Given the description of an element on the screen output the (x, y) to click on. 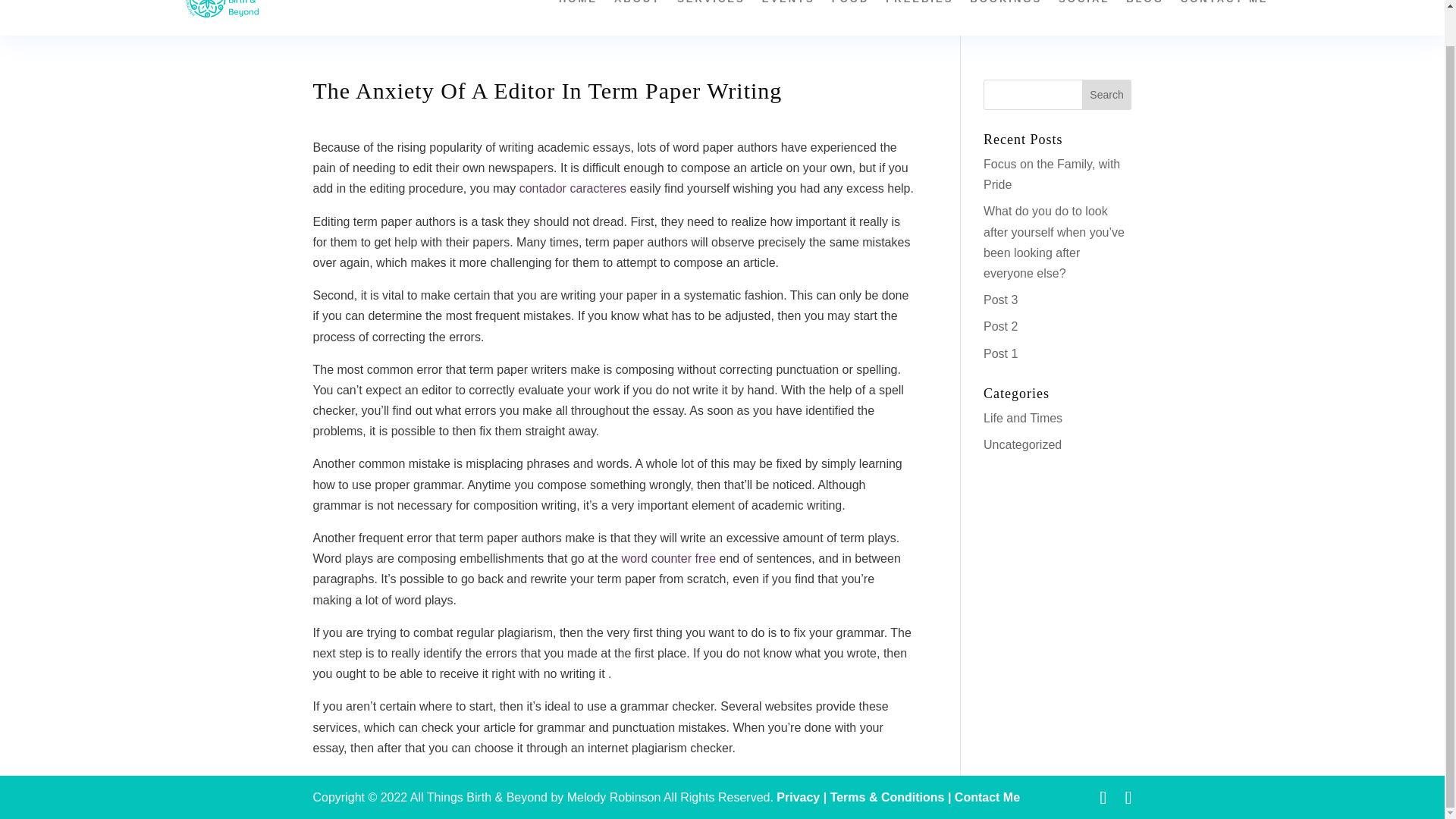
ABOUT (637, 13)
word counter free (668, 558)
HOME (577, 13)
CONTACT ME (1224, 13)
Post 1 (1000, 352)
EVENTS (788, 13)
FREEBIES (919, 13)
Post 2 (1000, 326)
BOOKINGS (1005, 13)
Search (1106, 94)
